Given the description of an element on the screen output the (x, y) to click on. 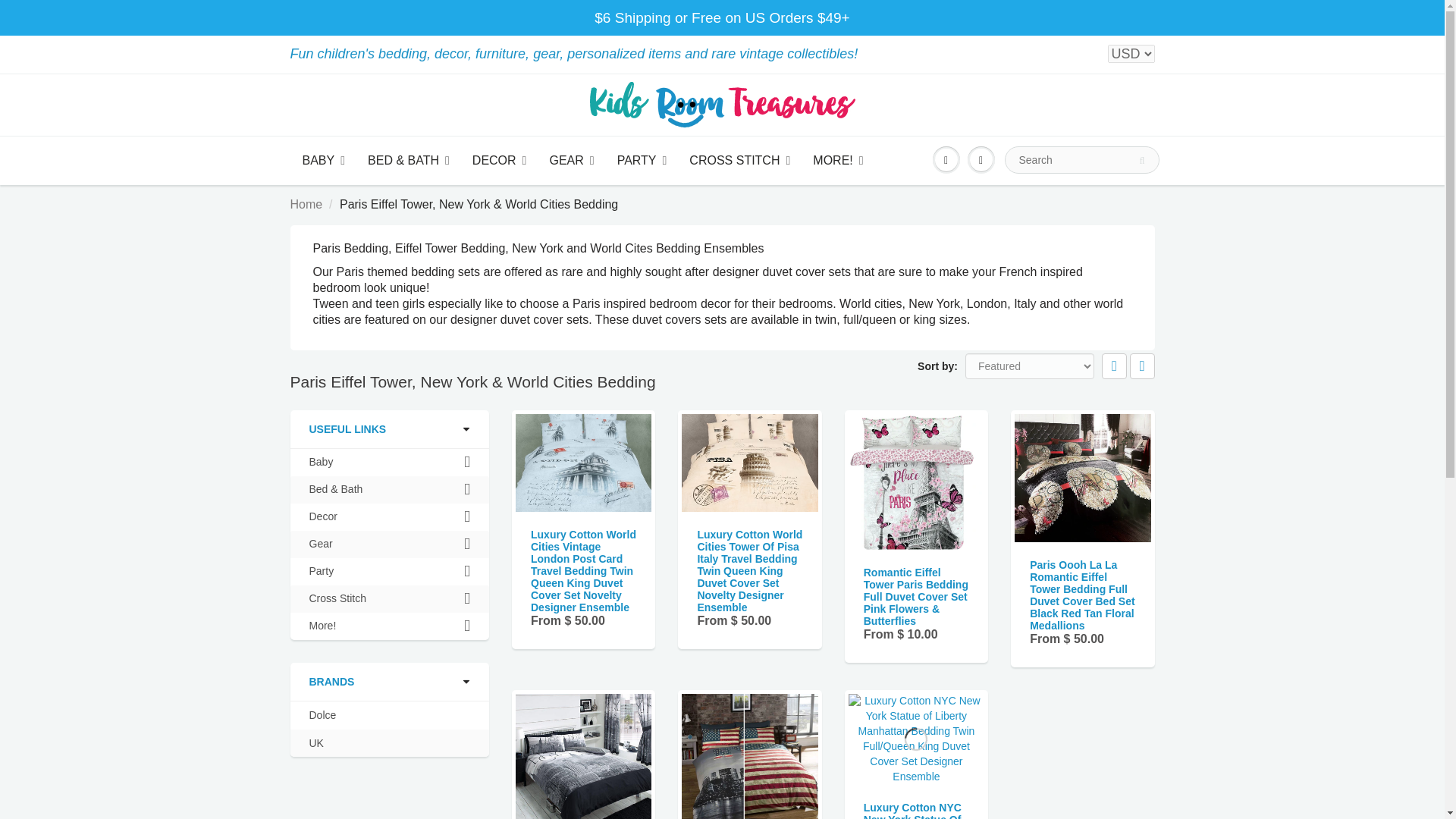
List View (1141, 365)
UK (315, 743)
Grid view (1114, 365)
Dolce (322, 715)
BABY (323, 160)
Home (305, 204)
